Given the description of an element on the screen output the (x, y) to click on. 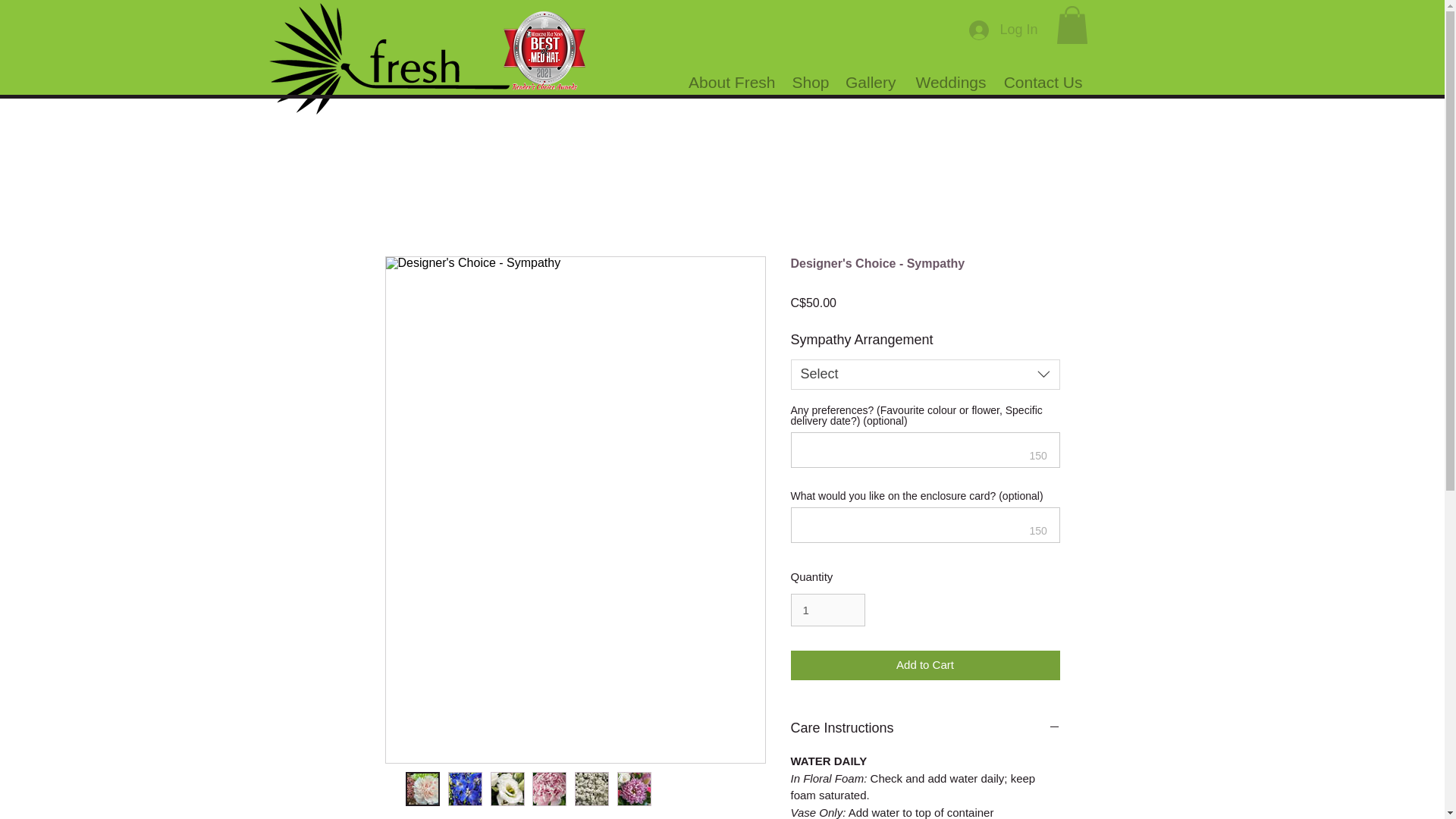
About Fresh (731, 82)
Log In (1003, 29)
Care Instructions (924, 728)
Gallery (870, 82)
1 (827, 610)
Add to Cart (924, 665)
Weddings (949, 82)
Select (924, 374)
Contact Us (1040, 82)
Shop (809, 82)
